Given the description of an element on the screen output the (x, y) to click on. 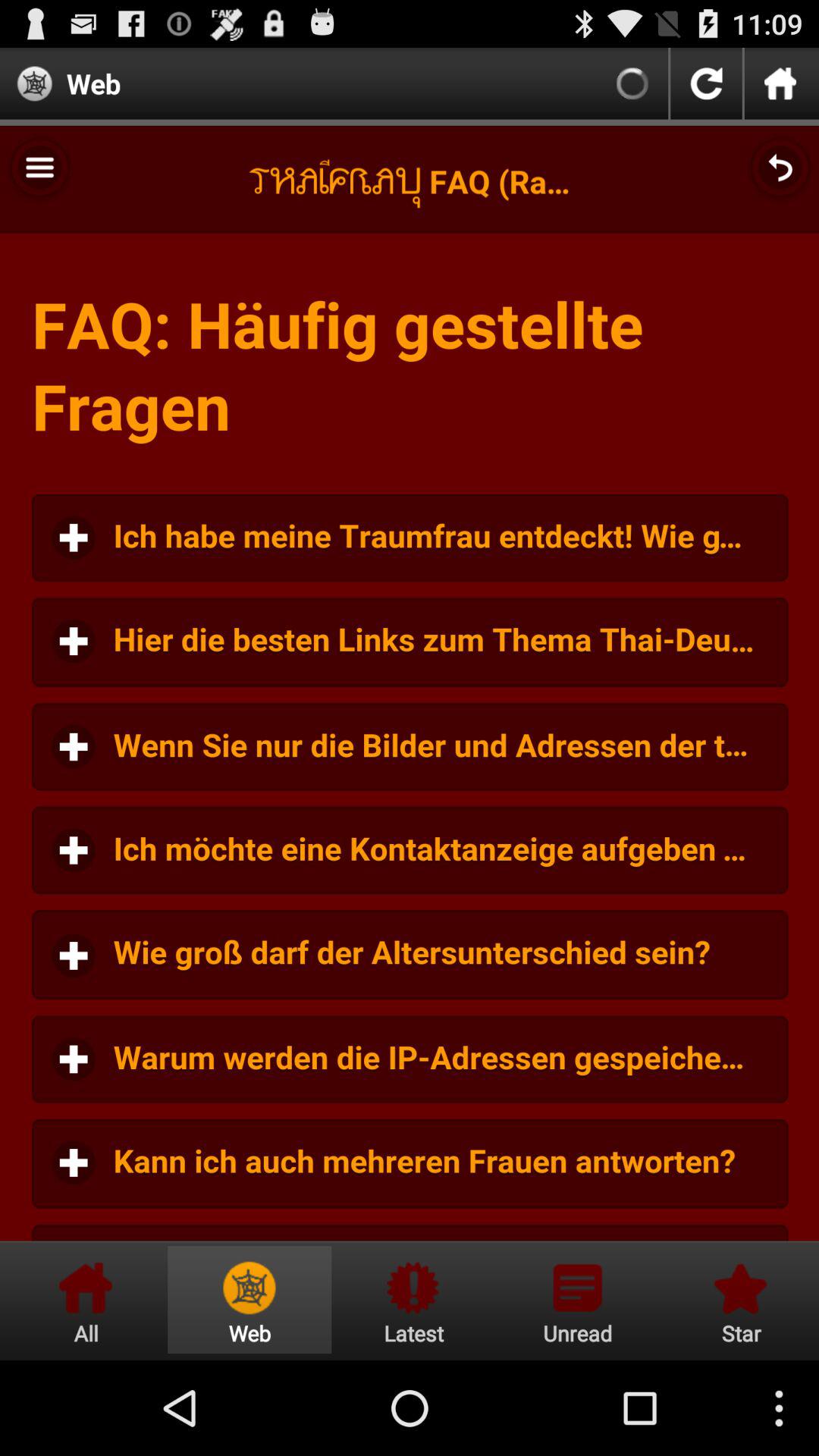
check the web (249, 1299)
